Given the description of an element on the screen output the (x, y) to click on. 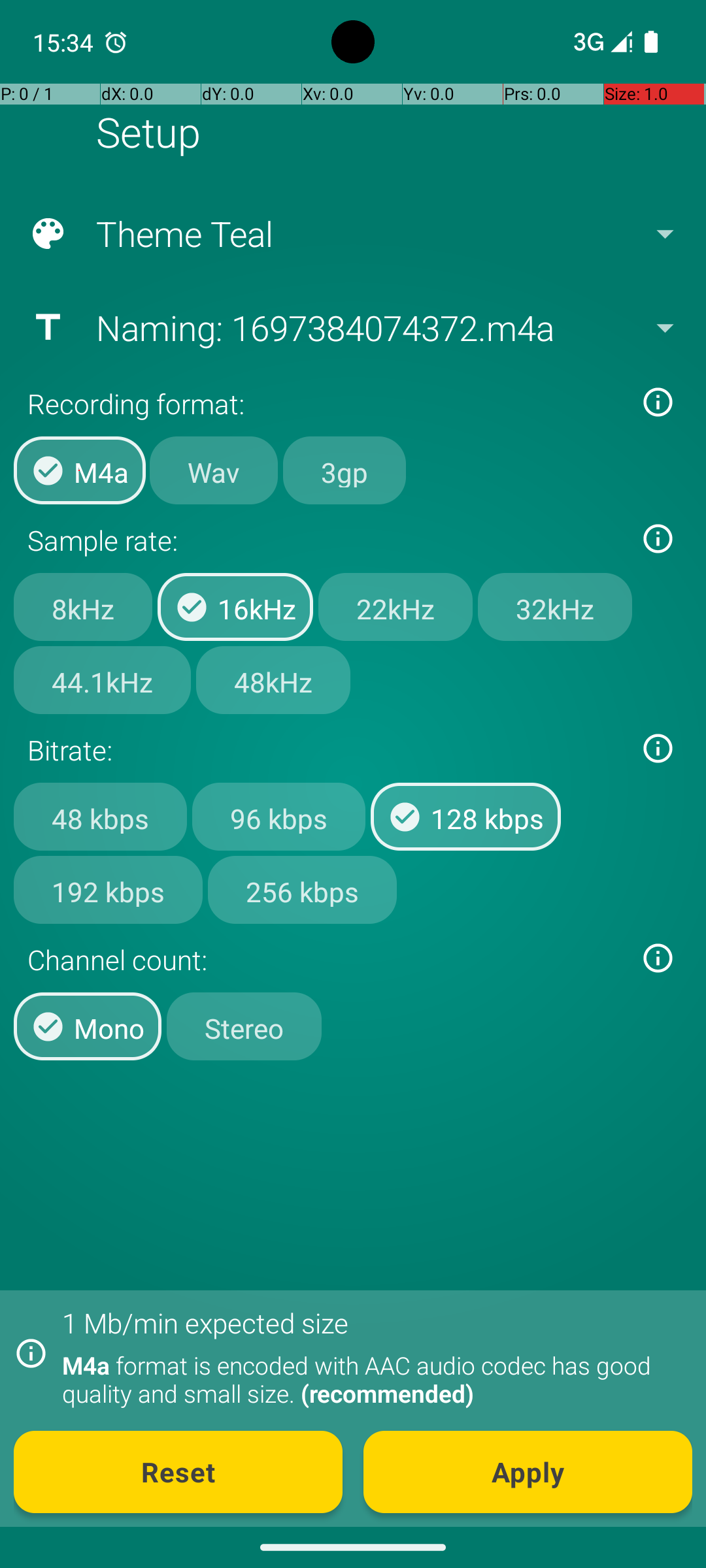
Naming: 1697384074372.m4a Element type: android.widget.TextView (352, 327)
Clock notification: Missed alarm Element type: android.widget.ImageView (115, 41)
